Given the description of an element on the screen output the (x, y) to click on. 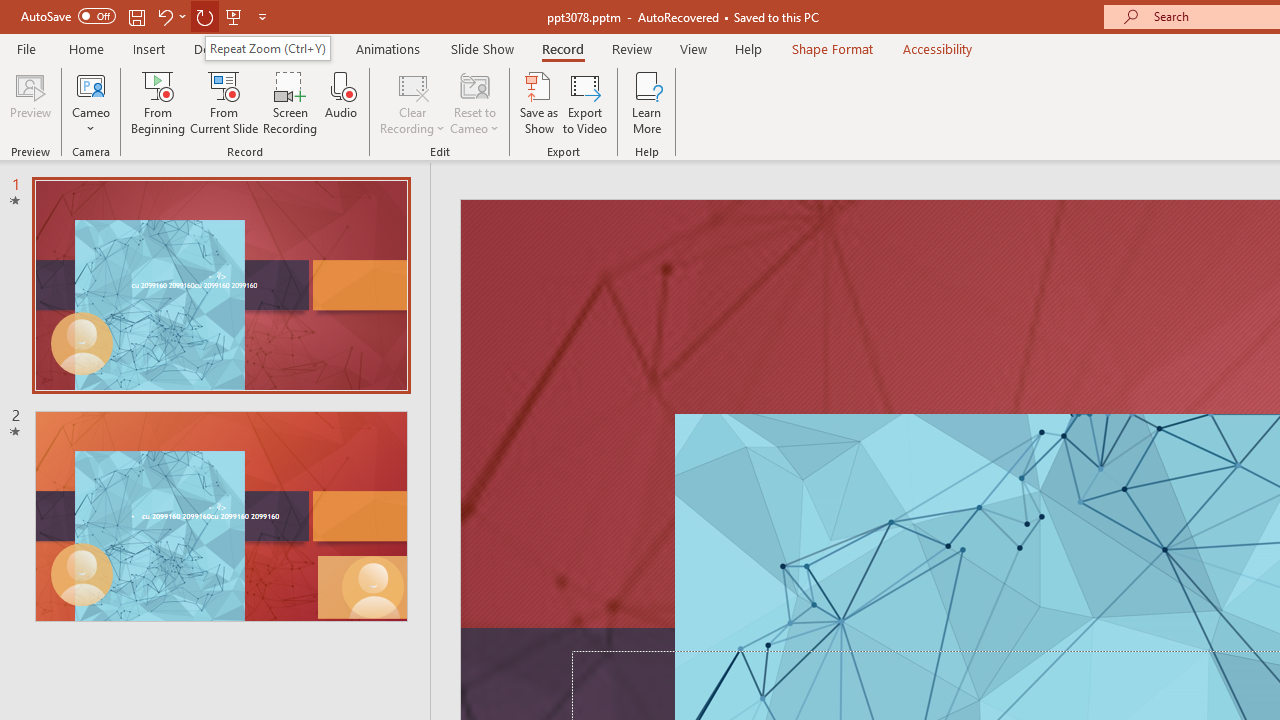
Reset to Cameo (474, 102)
